Given the description of an element on the screen output the (x, y) to click on. 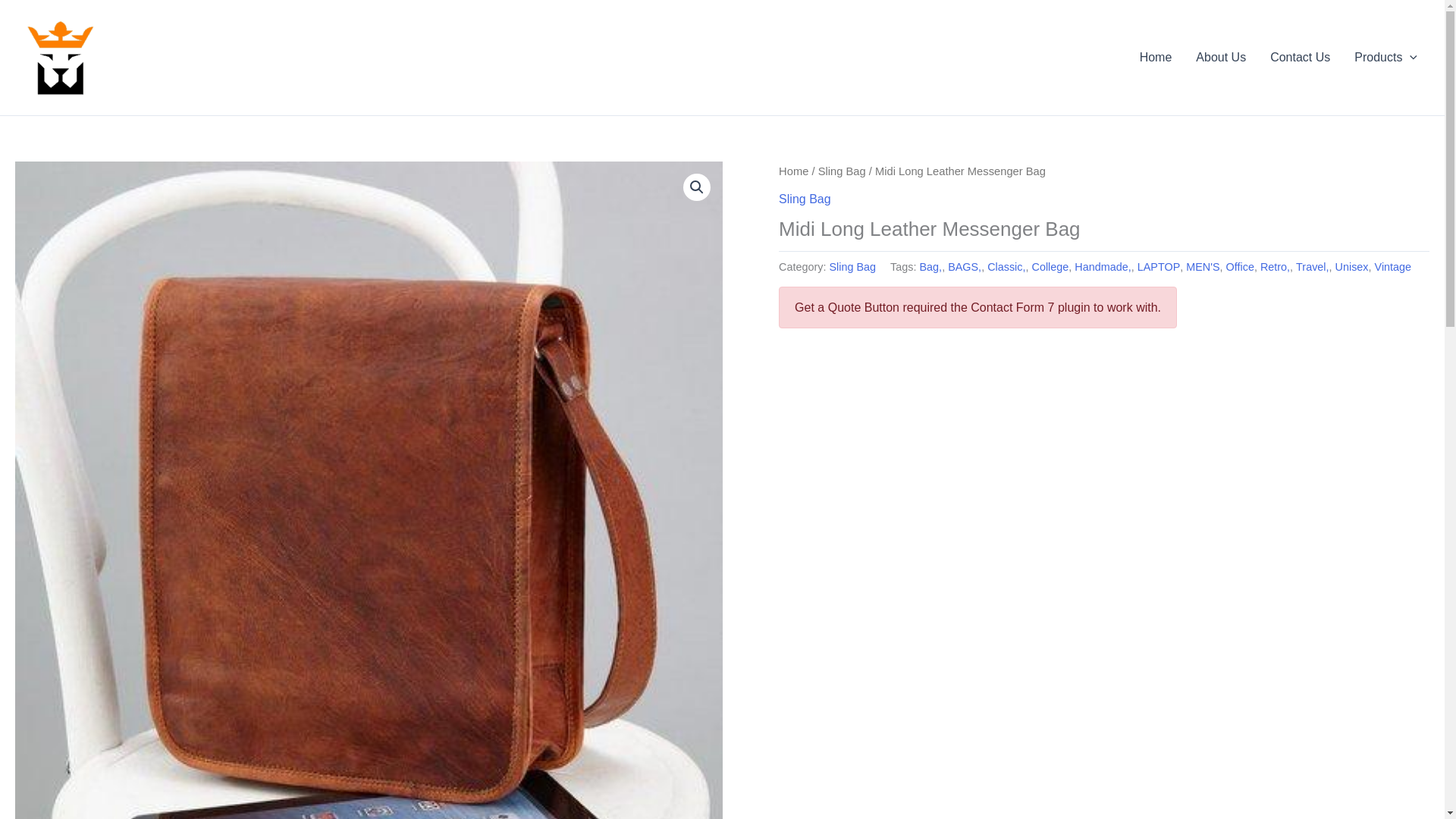
Home (1155, 57)
About Us (1220, 57)
Contact Us (1299, 57)
Products (1385, 57)
